Given the description of an element on the screen output the (x, y) to click on. 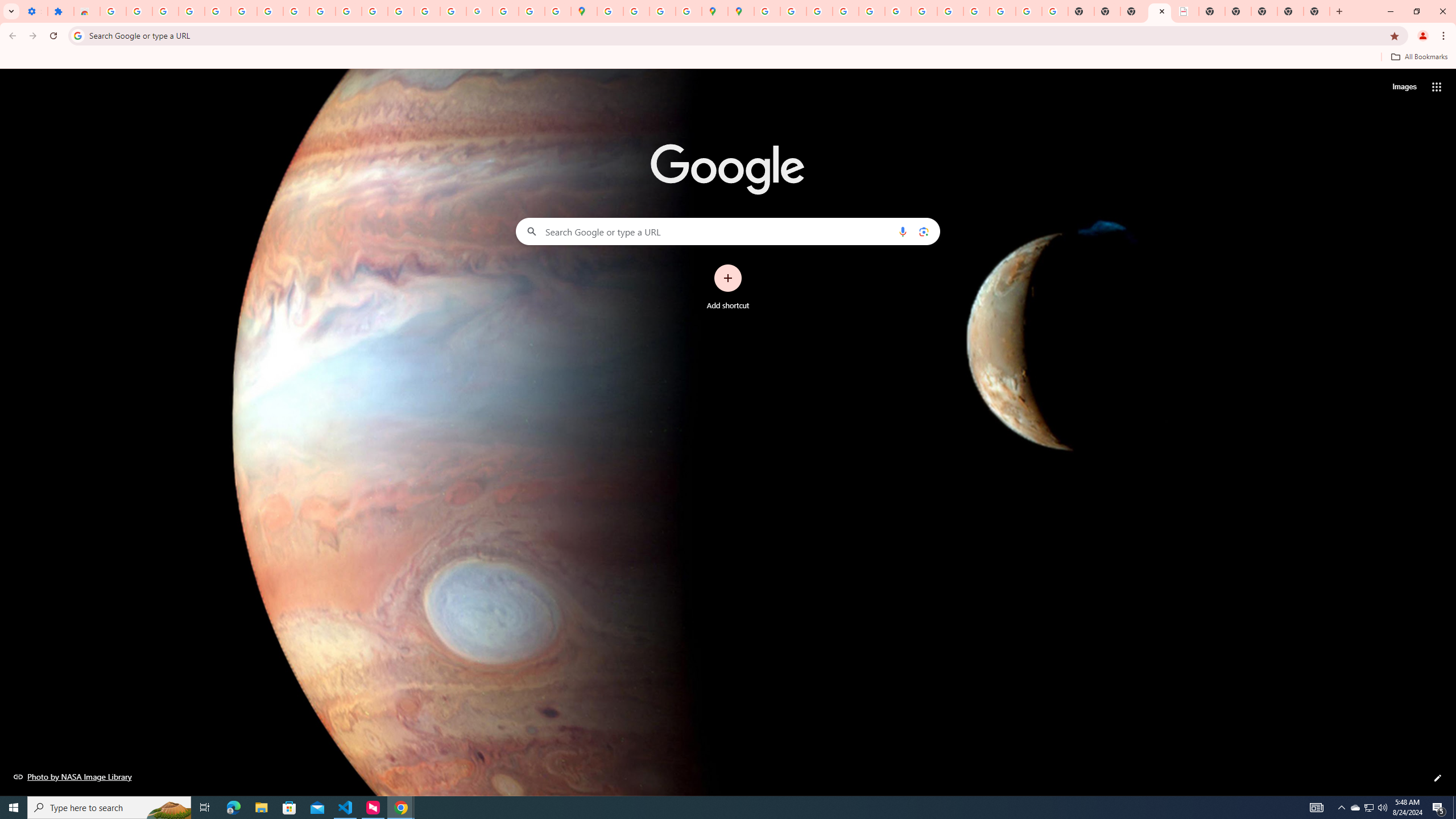
New Tab (1316, 11)
Customize this page (1437, 778)
LAAD Defence & Security 2025 | BAE Systems (1185, 11)
Privacy Help Center - Policies Help (845, 11)
